Given the description of an element on the screen output the (x, y) to click on. 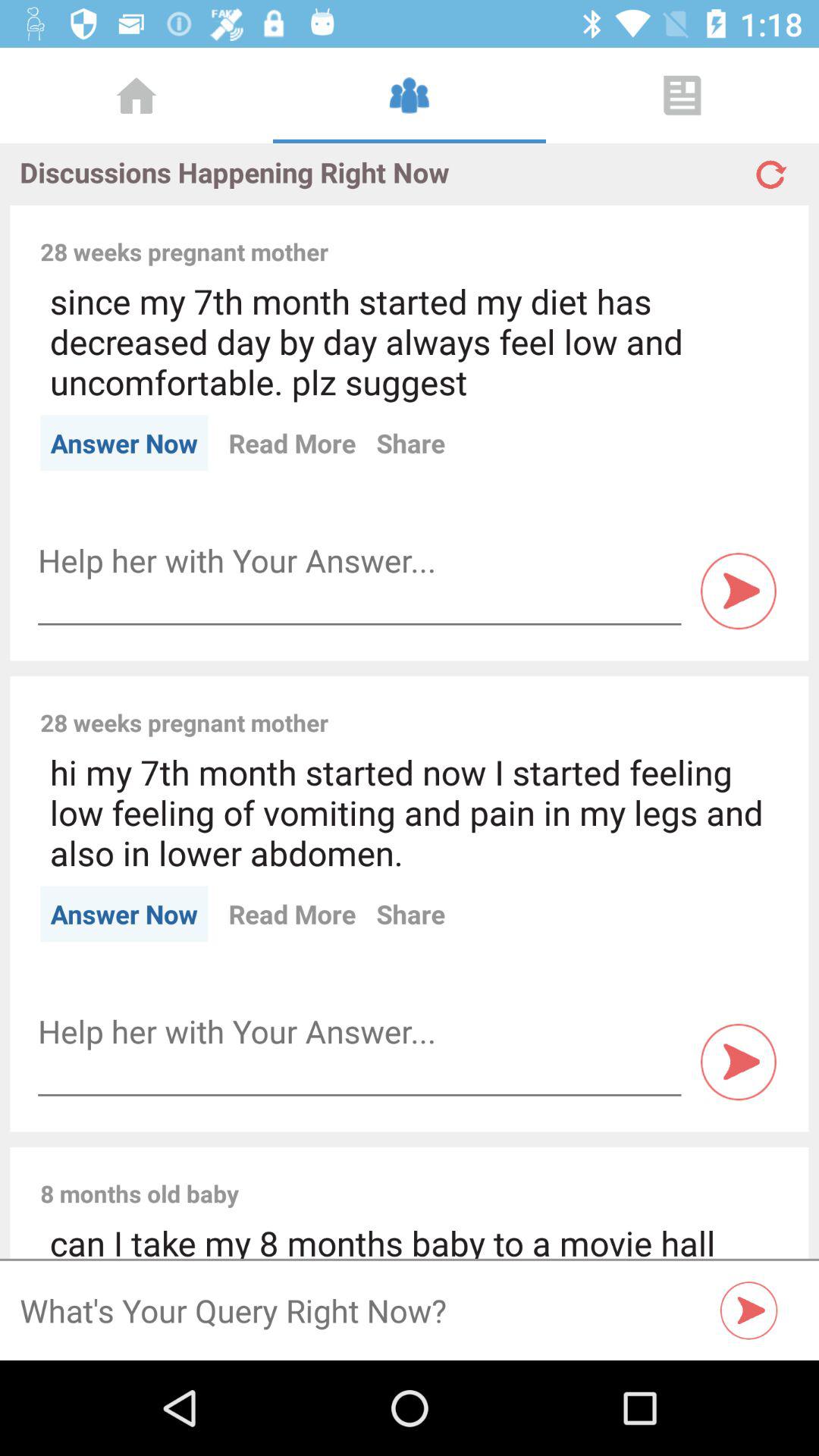
turn off item above can i take (518, 1176)
